Given the description of an element on the screen output the (x, y) to click on. 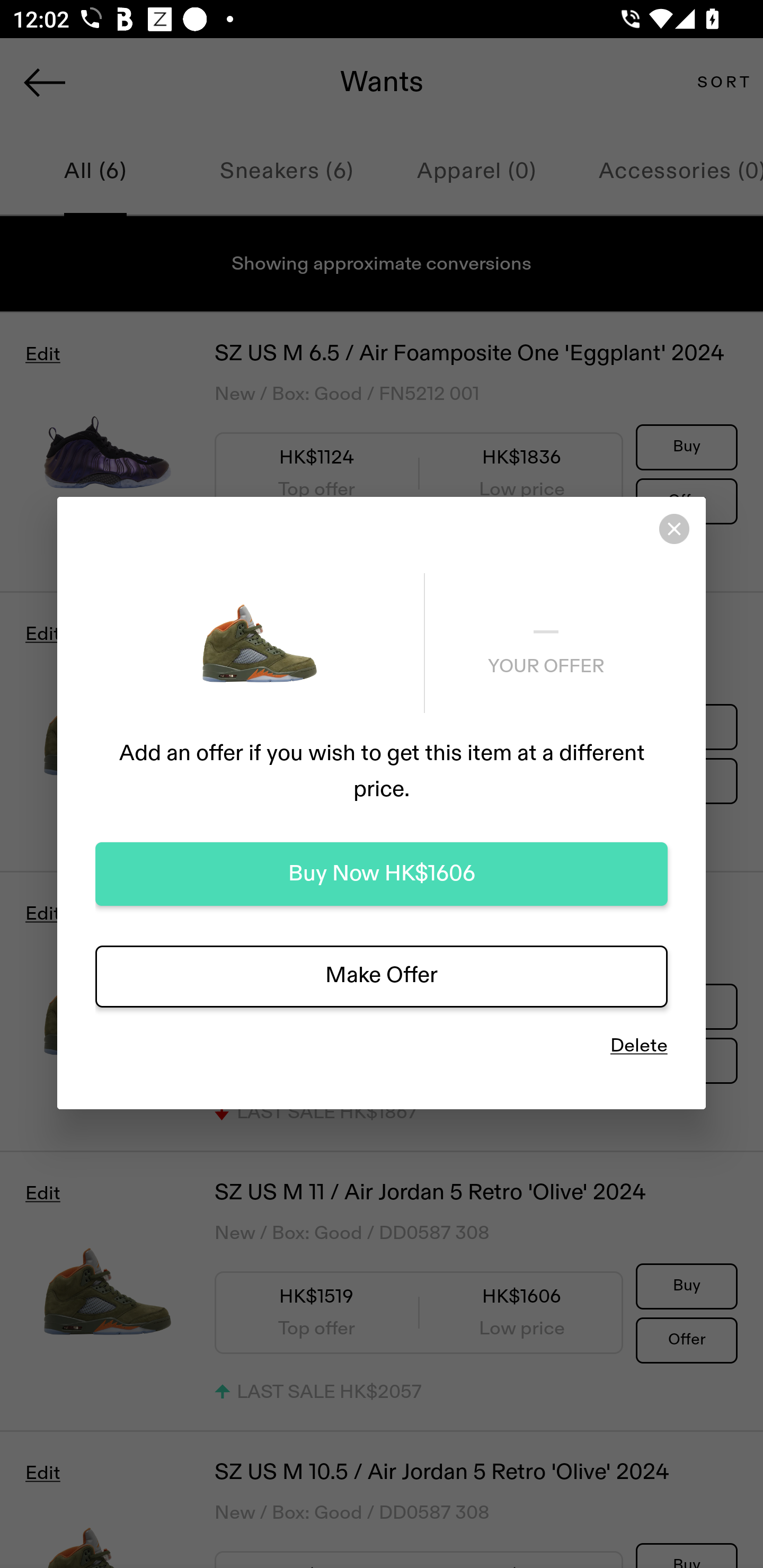
Buy Now HK$1606 (381, 874)
Make Offer (381, 975)
Delete (638, 1045)
